Given the description of an element on the screen output the (x, y) to click on. 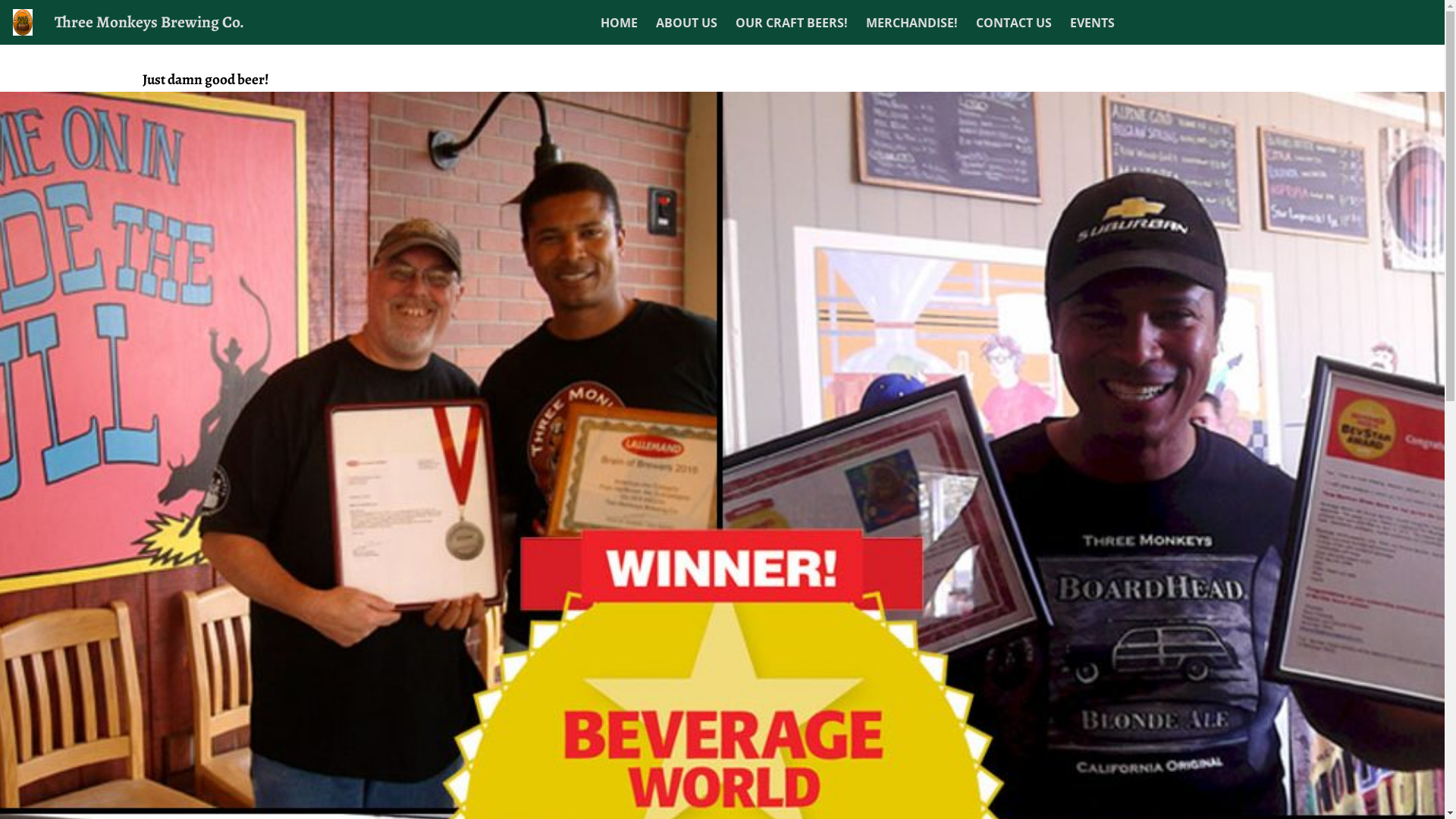
MERCHANDISE! Element type: text (911, 22)
EVENTS Element type: text (1091, 22)
CONTACT US Element type: text (1013, 22)
HOME Element type: text (618, 22)
Three Monkeys Brewing Co. Element type: text (149, 21)
ABOUT US Element type: text (686, 22)
OUR CRAFT BEERS! Element type: text (791, 22)
